Given the description of an element on the screen output the (x, y) to click on. 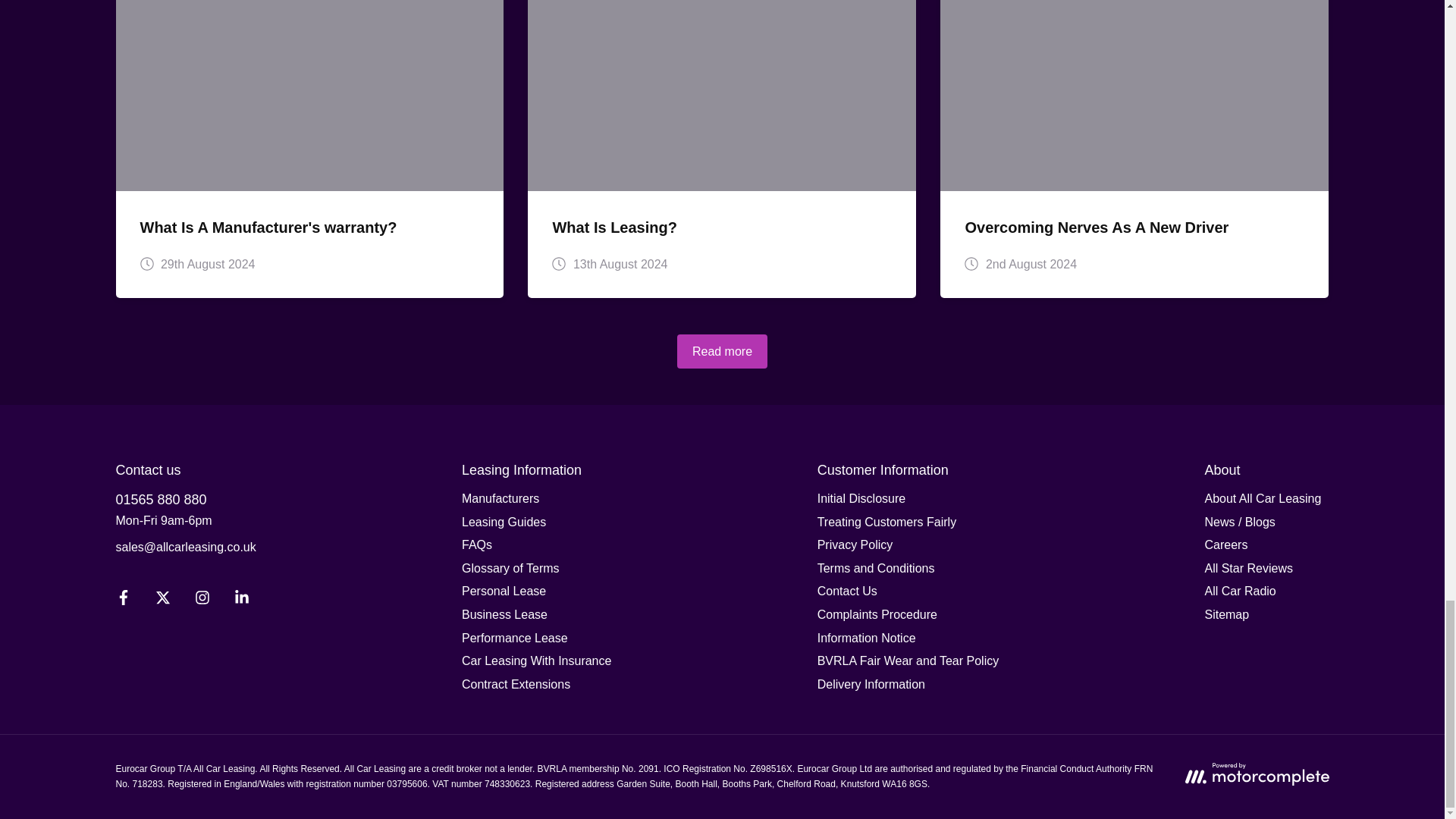
Instagram (201, 600)
Twitter (162, 600)
LinkedIn (240, 600)
Car lease broker websites by MotorComplete (1256, 774)
Facebook (122, 600)
